Given the description of an element on the screen output the (x, y) to click on. 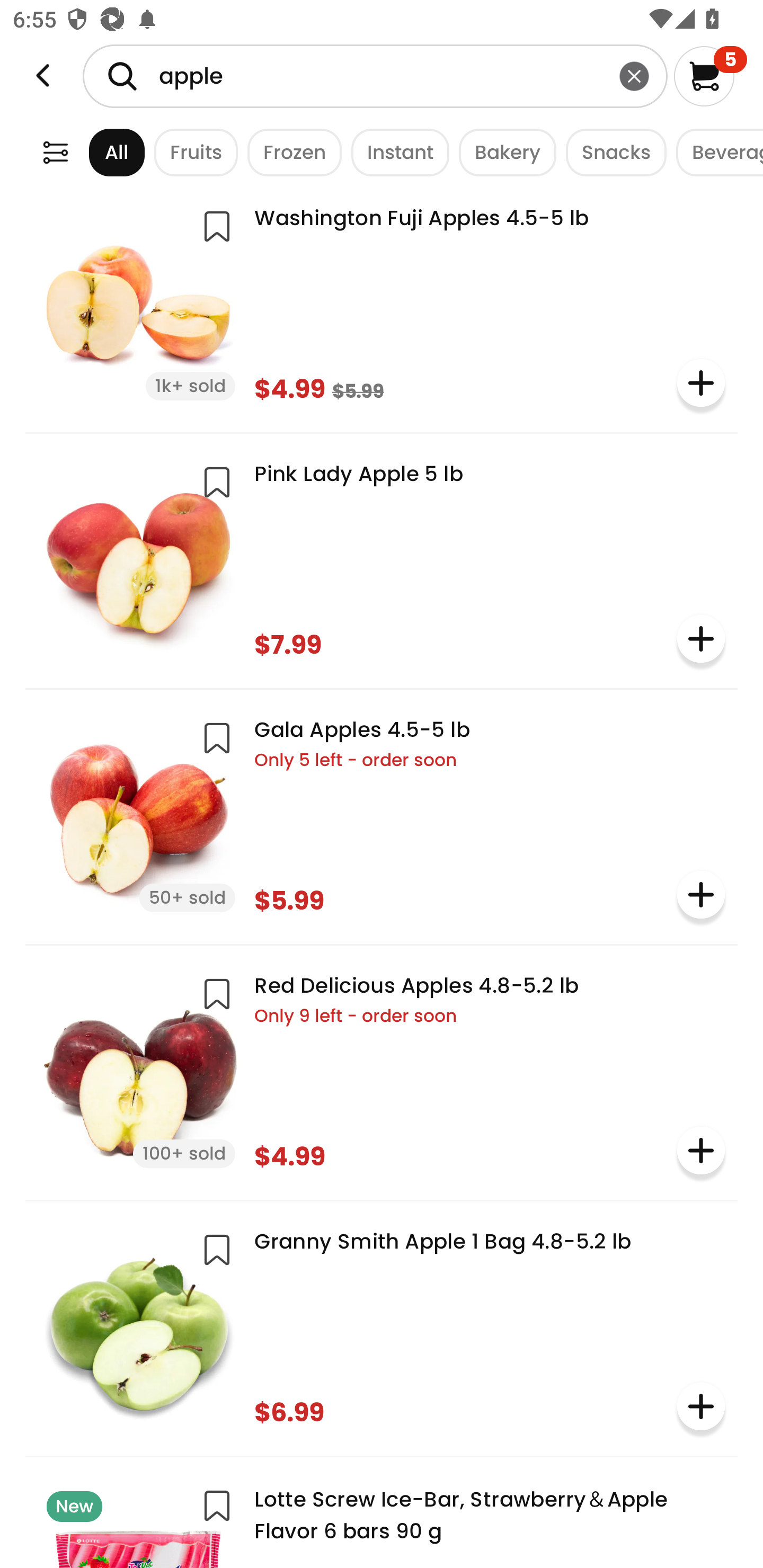
apple (374, 75)
5 (709, 75)
Weee! (42, 76)
Weee! (55, 151)
All (99, 151)
Fruits (191, 151)
Frozen (289, 151)
Instant (395, 151)
Bakery (502, 151)
Snacks (611, 151)
Beverages (714, 151)
Pink Lady Apple 5 lb $7.99 (381, 559)
Granny Smith Apple 1 Bag 4.8-5.2 lb $6.99 (381, 1326)
